Given the description of an element on the screen output the (x, y) to click on. 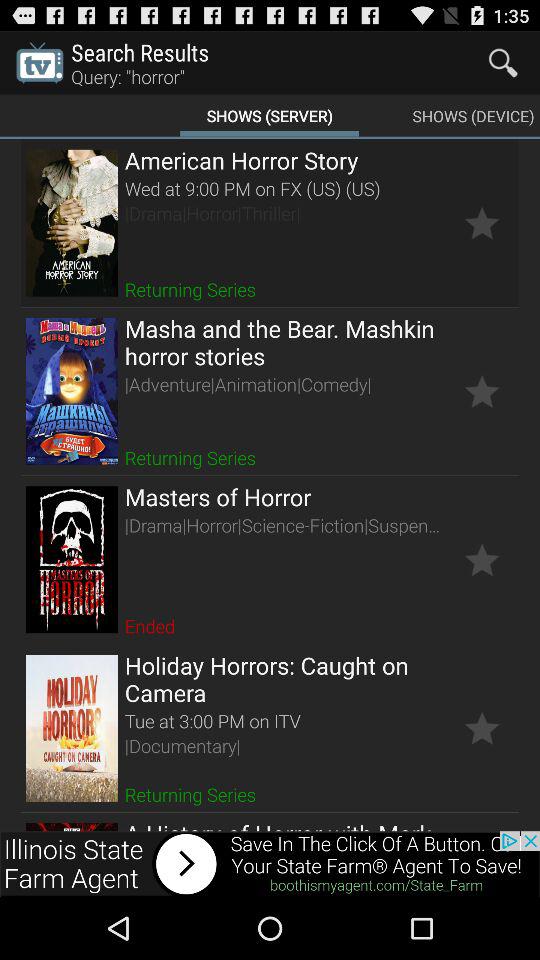
highlight (481, 728)
